Given the description of an element on the screen output the (x, y) to click on. 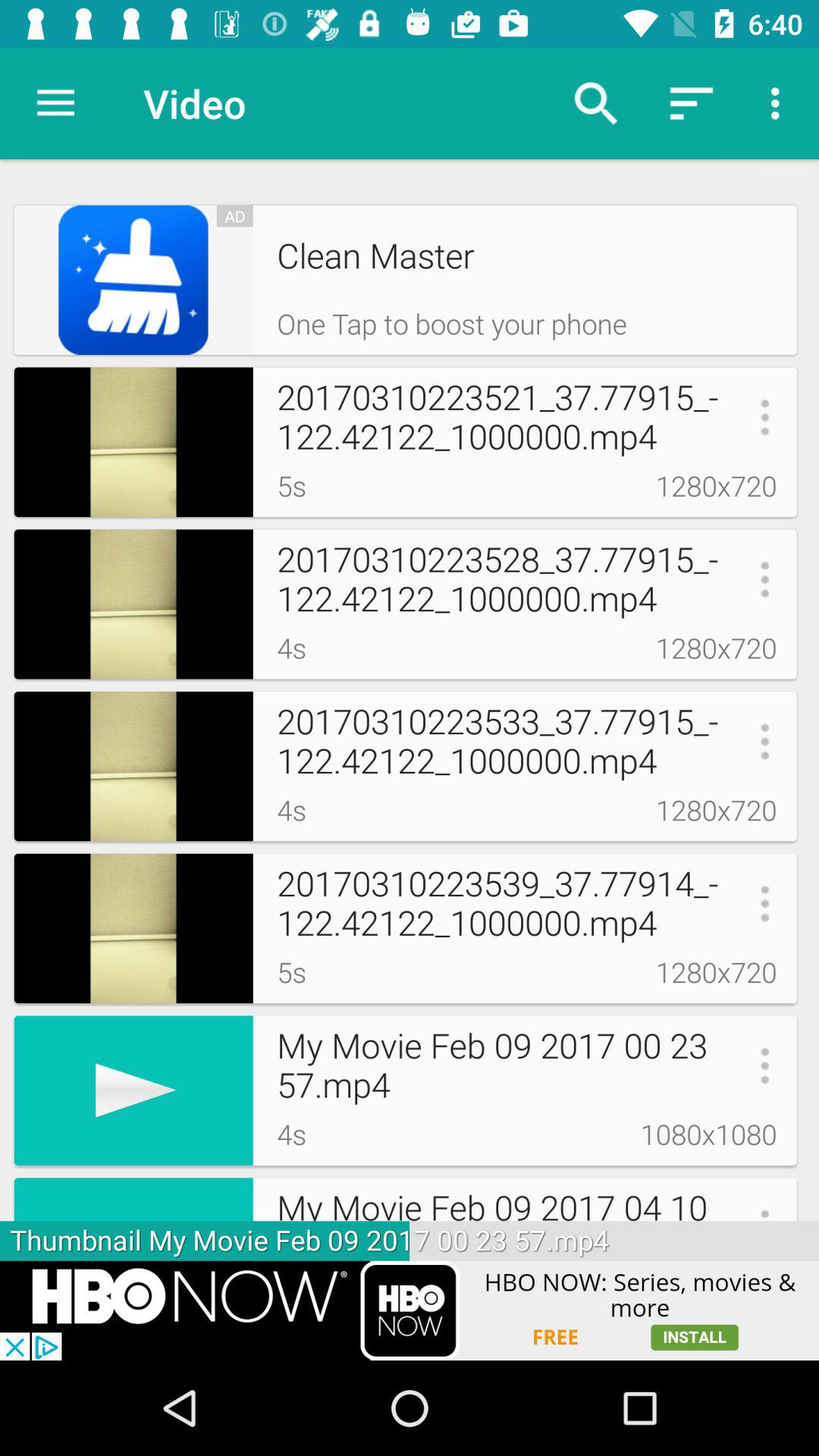
3 dot icon beside 2357 mp4 (764, 1065)
click on third menu button from top (764, 578)
select the more options buttons (779, 103)
click  top right side second botton (691, 103)
select the image which is below clean master logo (133, 442)
click on the search icon which is beside to video (595, 103)
